Given the description of an element on the screen output the (x, y) to click on. 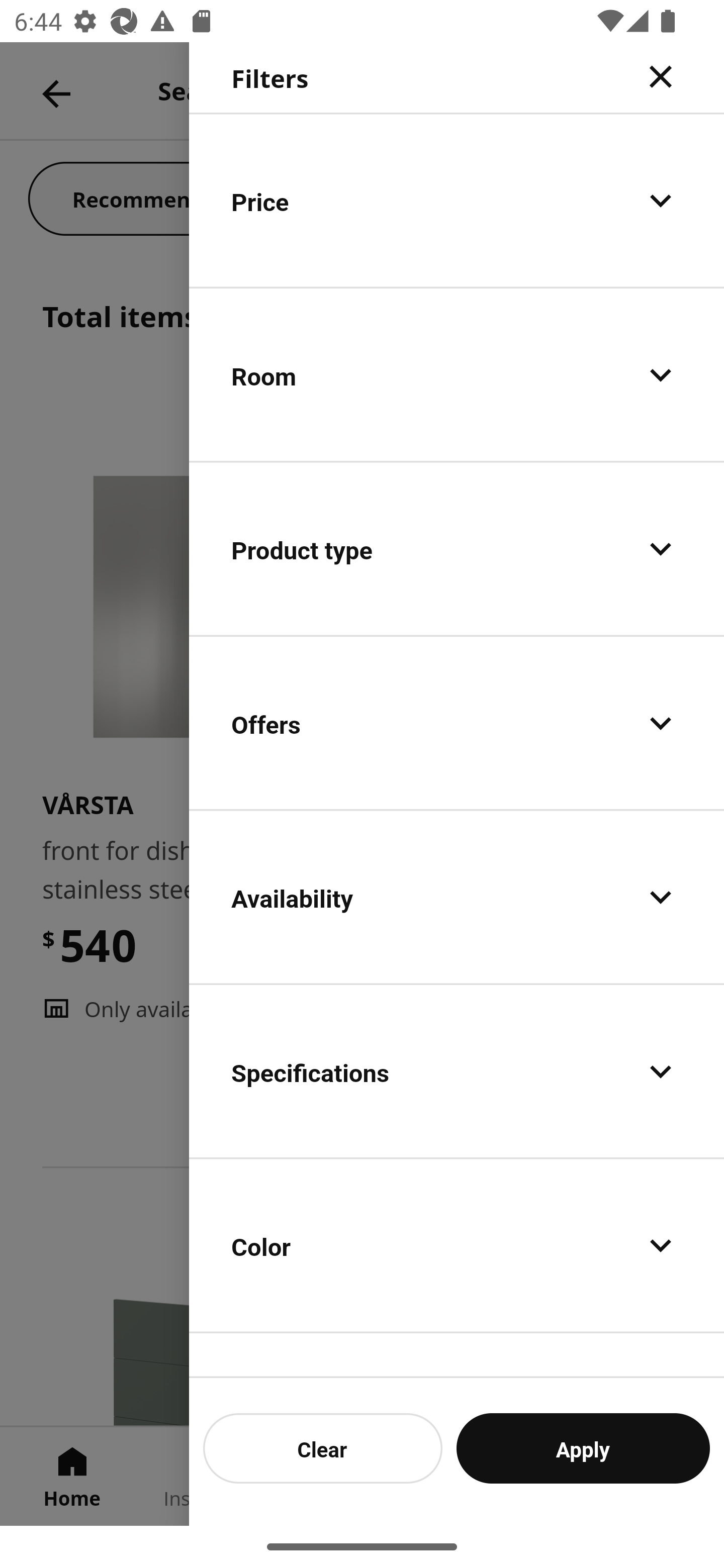
Price (456, 200)
Room (456, 374)
Product type (456, 548)
Offers (456, 722)
Availability (456, 896)
Specifications (456, 1070)
Color (456, 1244)
Clear (322, 1447)
Apply (583, 1447)
